Given the description of an element on the screen output the (x, y) to click on. 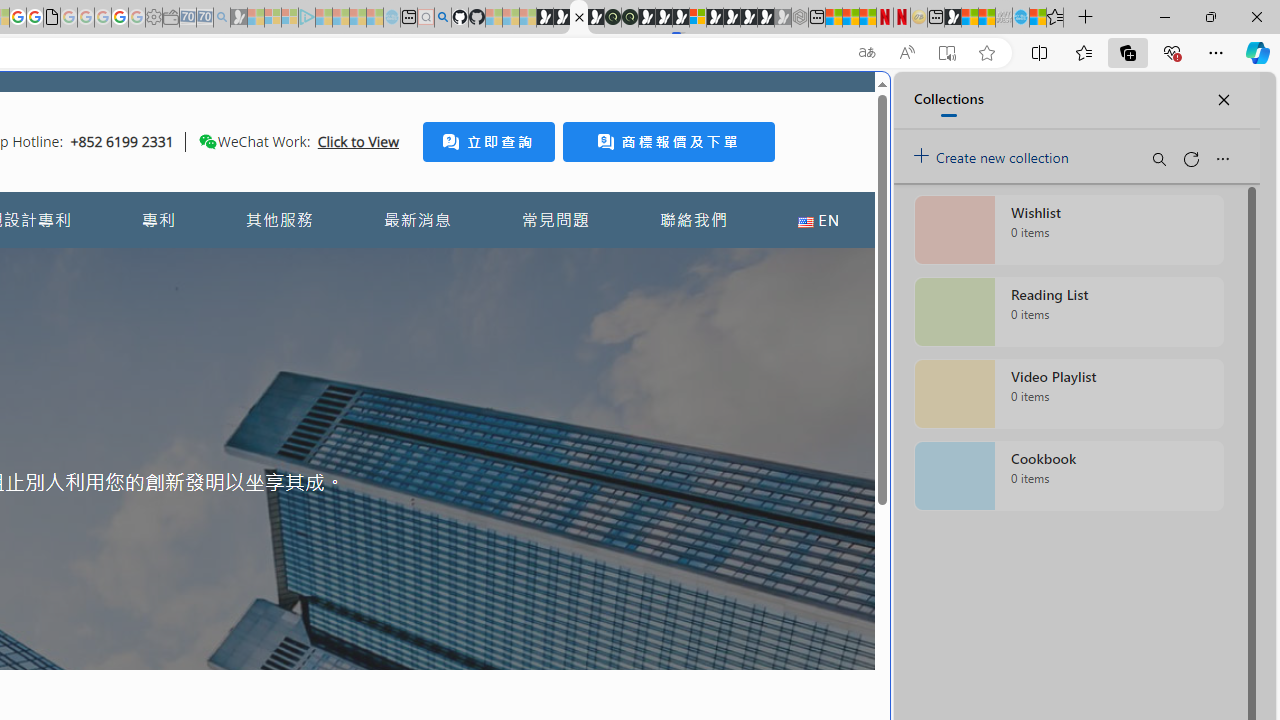
google_privacy_policy_zh-CN.pdf (51, 17)
Enter Immersive Reader (F9) (946, 53)
Home | Sky Blue Bikes - Sky Blue Bikes - Sleeping (392, 17)
Navy Quest (1003, 17)
